Given the description of an element on the screen output the (x, y) to click on. 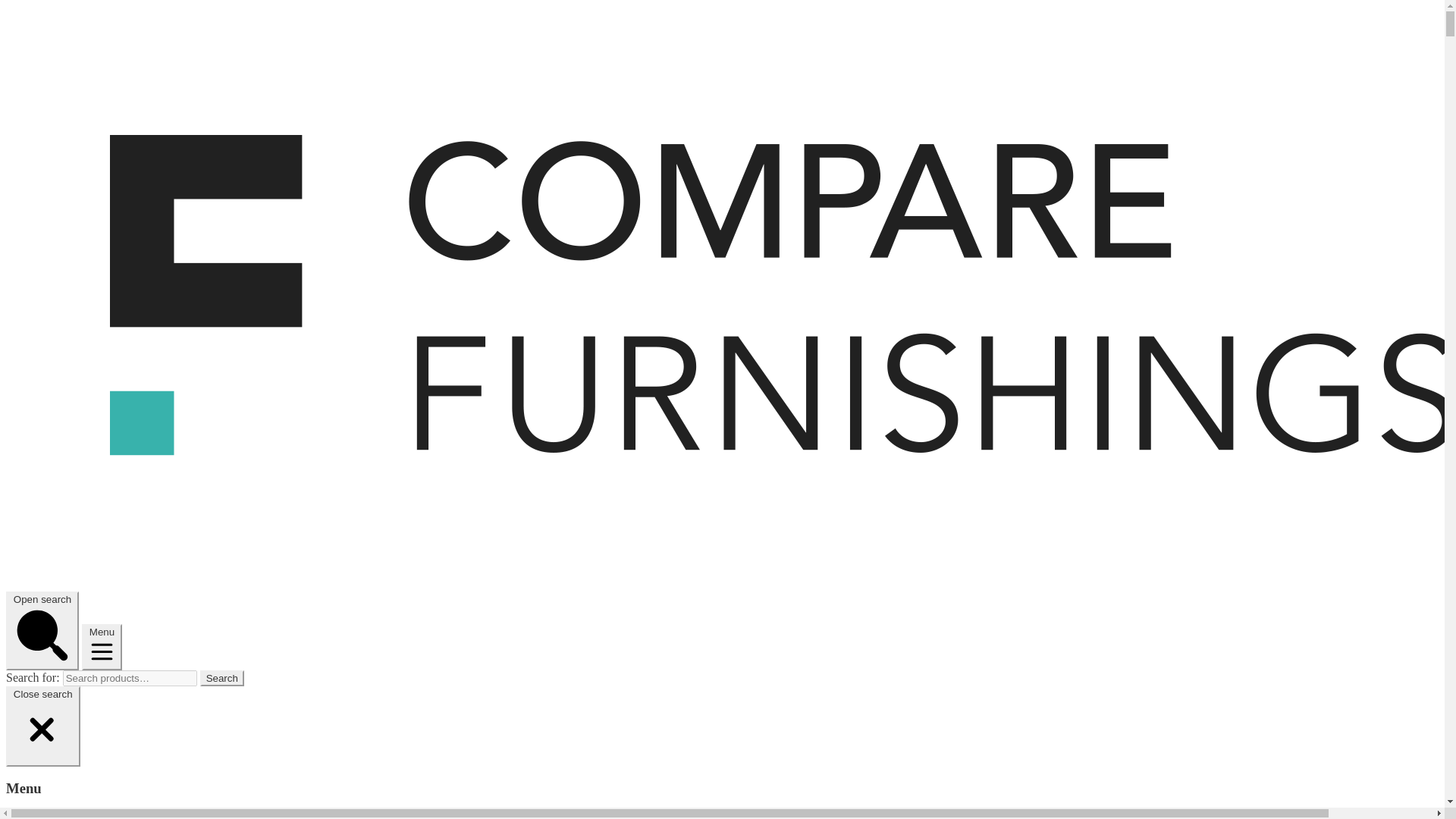
Search (222, 678)
Open search (41, 630)
Close search (42, 726)
